Given the description of an element on the screen output the (x, y) to click on. 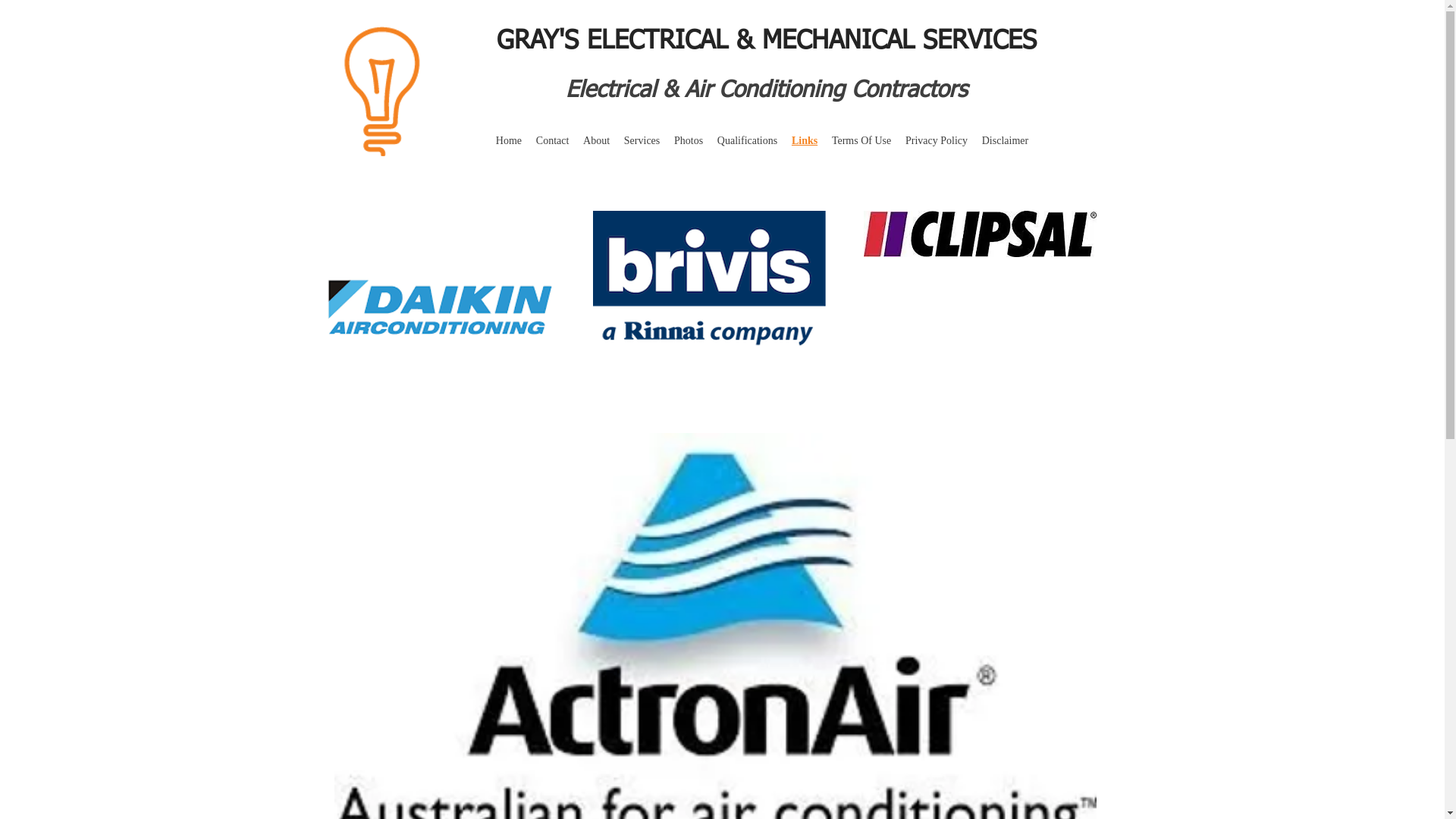
Links Element type: text (804, 140)
Services Element type: text (641, 140)
Terms Of Use Element type: text (861, 140)
Contact Element type: text (551, 140)
Photos Element type: text (688, 140)
Disclaimer Element type: text (1004, 140)
About Element type: text (596, 140)
Privacy Policy Element type: text (936, 140)
Home Element type: text (508, 140)
Qualifications Element type: text (746, 140)
